Given the description of an element on the screen output the (x, y) to click on. 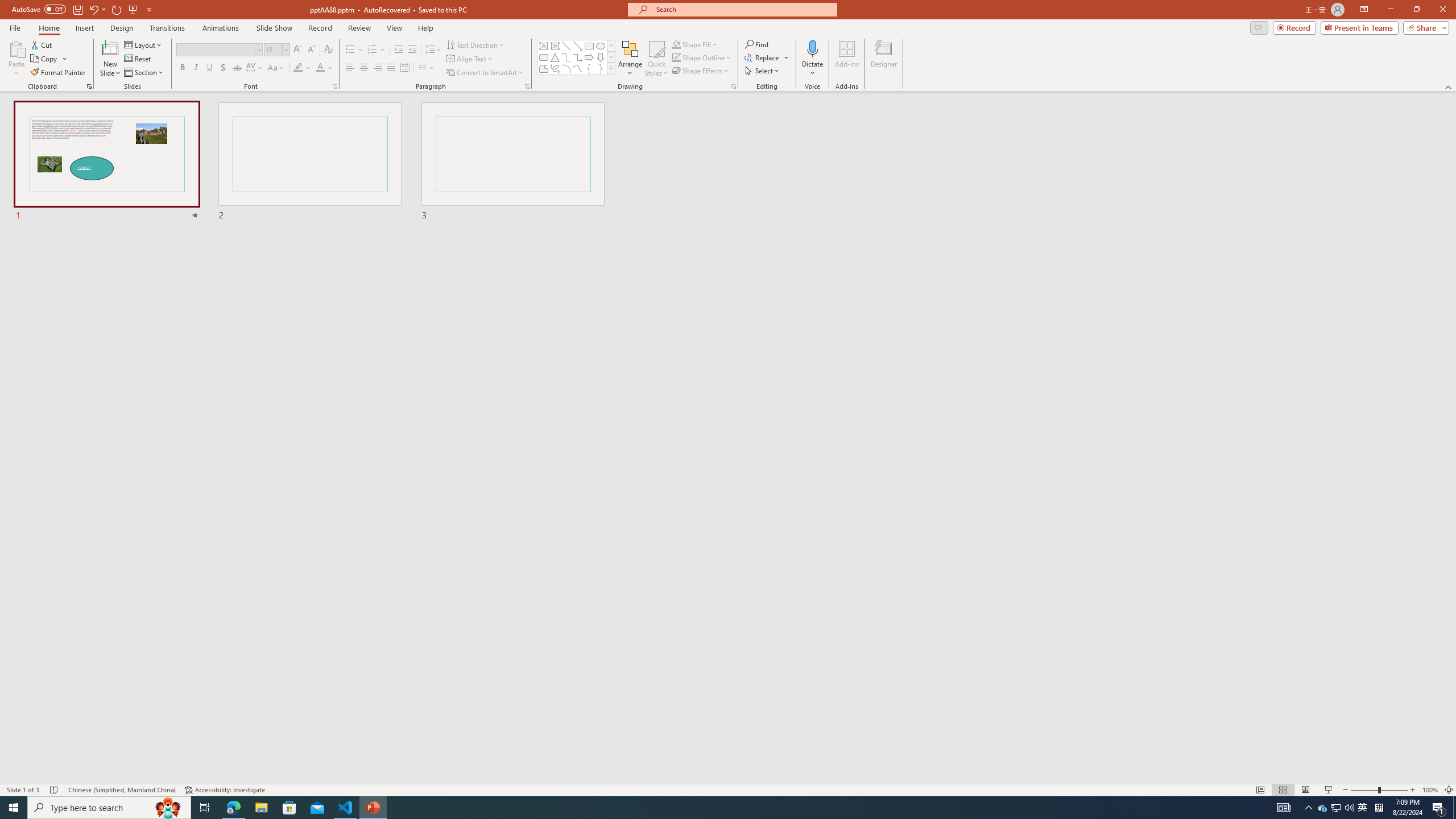
Layout (143, 44)
Increase Indent (412, 49)
Connector: Elbow Arrow (577, 57)
Office Clipboard... (88, 85)
Font... (334, 85)
